Given the description of an element on the screen output the (x, y) to click on. 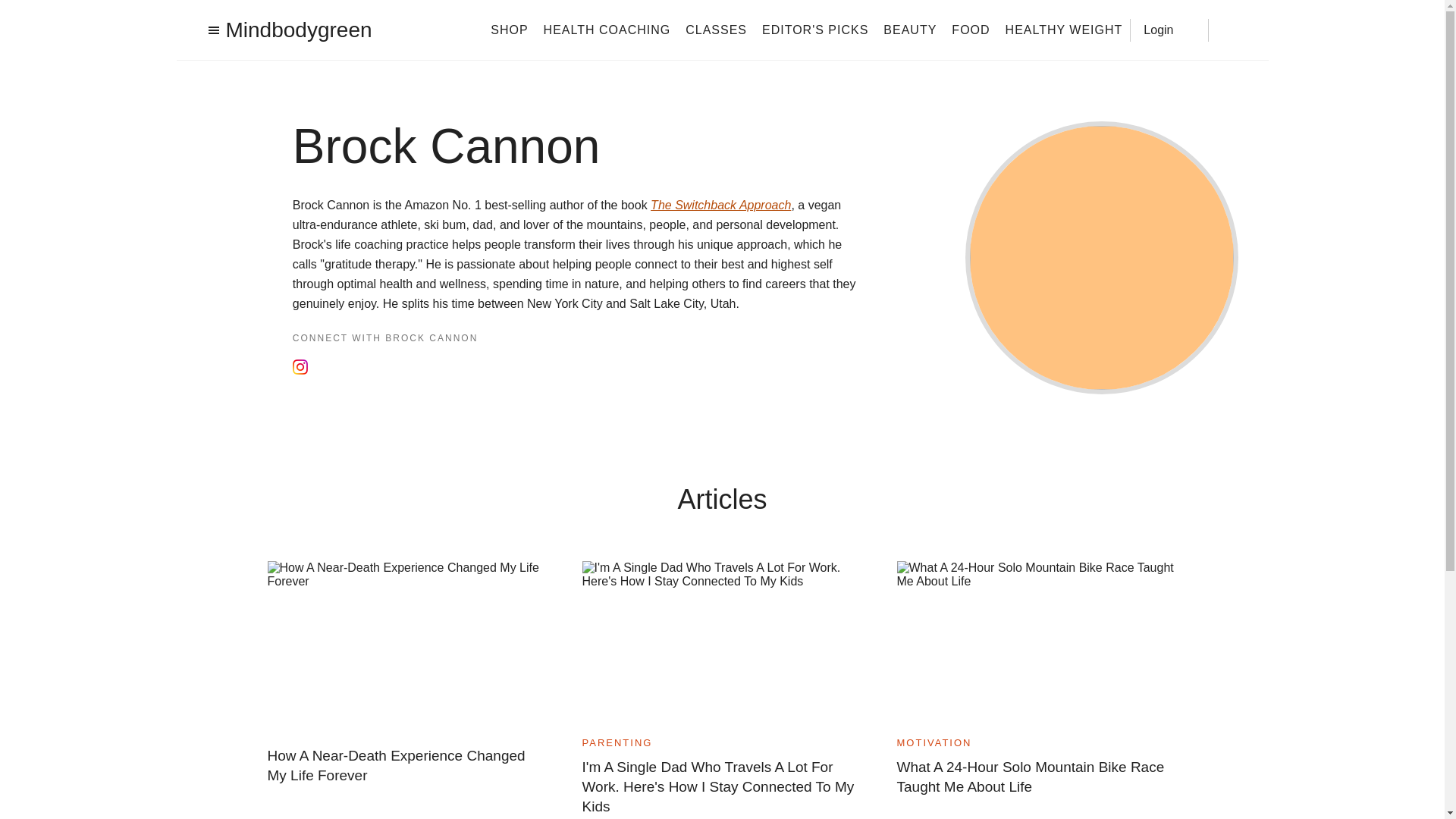
MOTIVATION (933, 742)
The Switchback Approach (720, 205)
Visit Brock Cannon on website (367, 366)
Visit Brock Cannon on website (357, 368)
FOOD (971, 29)
PARENTING (617, 742)
Visit Brock Cannon on facebook (323, 368)
EDITOR'S PICKS (814, 29)
HEALTH COACHING (607, 29)
CLASSES (715, 29)
